Given the description of an element on the screen output the (x, y) to click on. 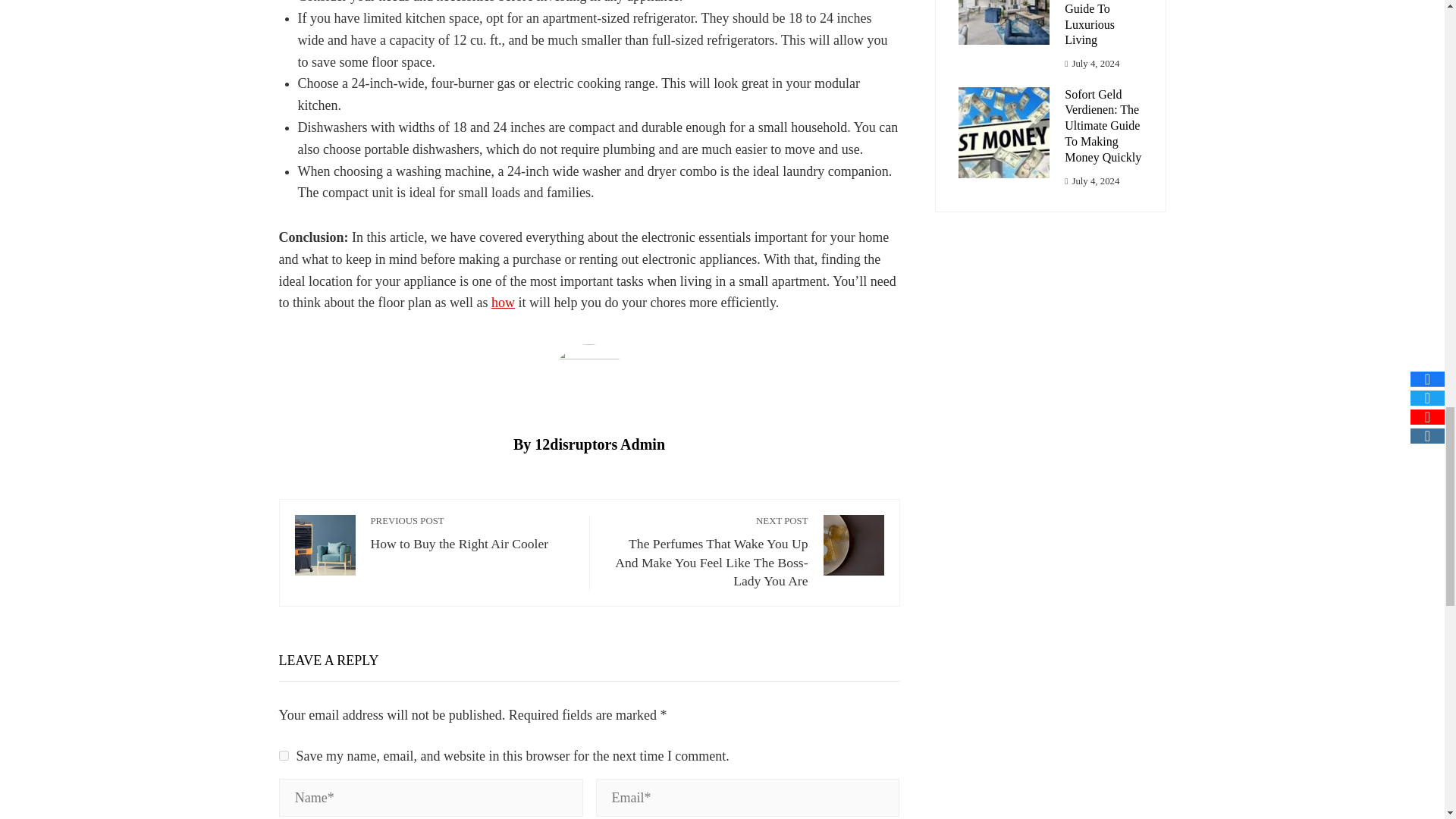
yes (283, 755)
